Given the description of an element on the screen output the (x, y) to click on. 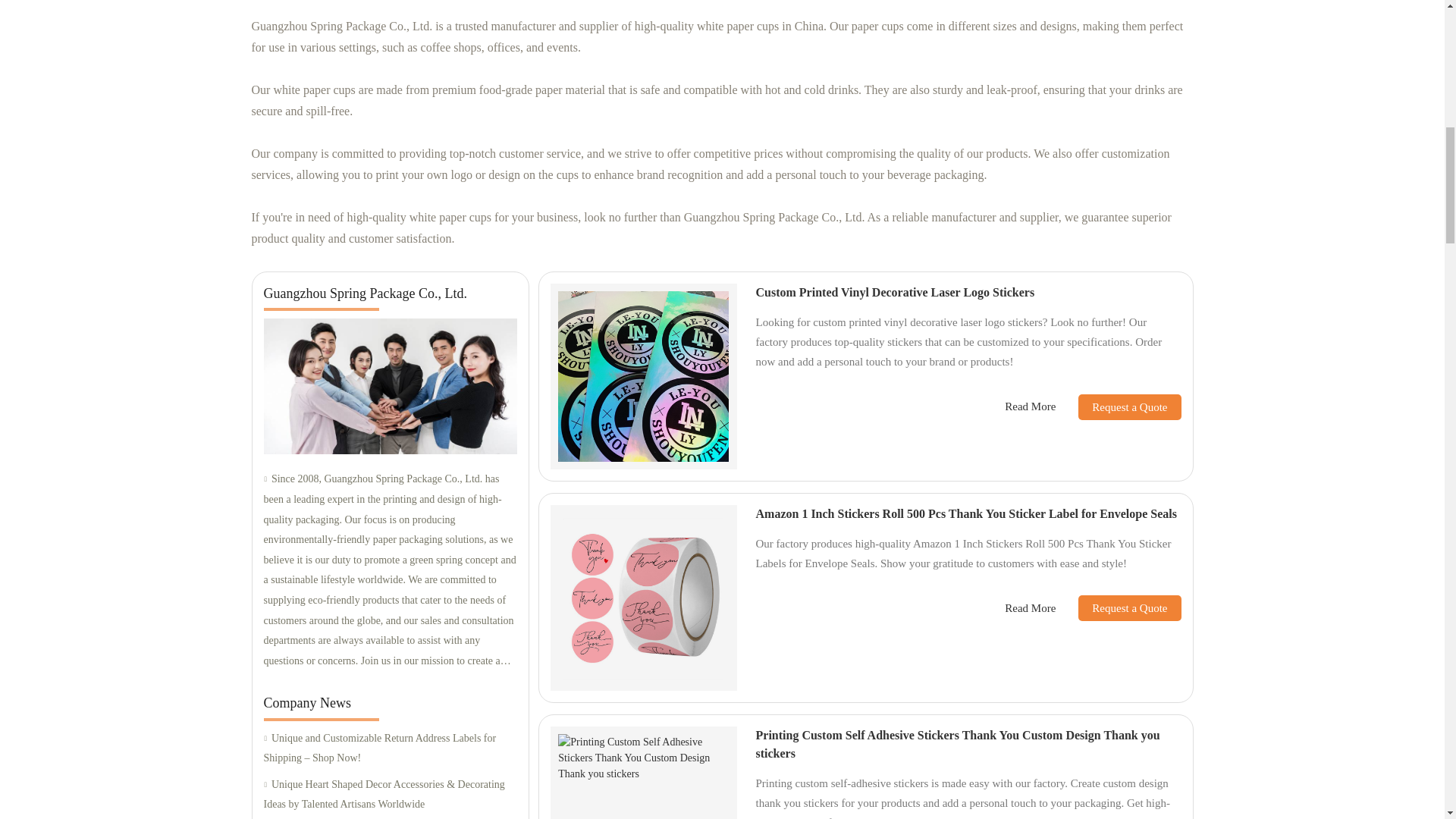
Request a Quote (1117, 406)
Custom Printed Vinyl Decorative Laser Logo Stickers (894, 291)
Read More (1029, 406)
